Given the description of an element on the screen output the (x, y) to click on. 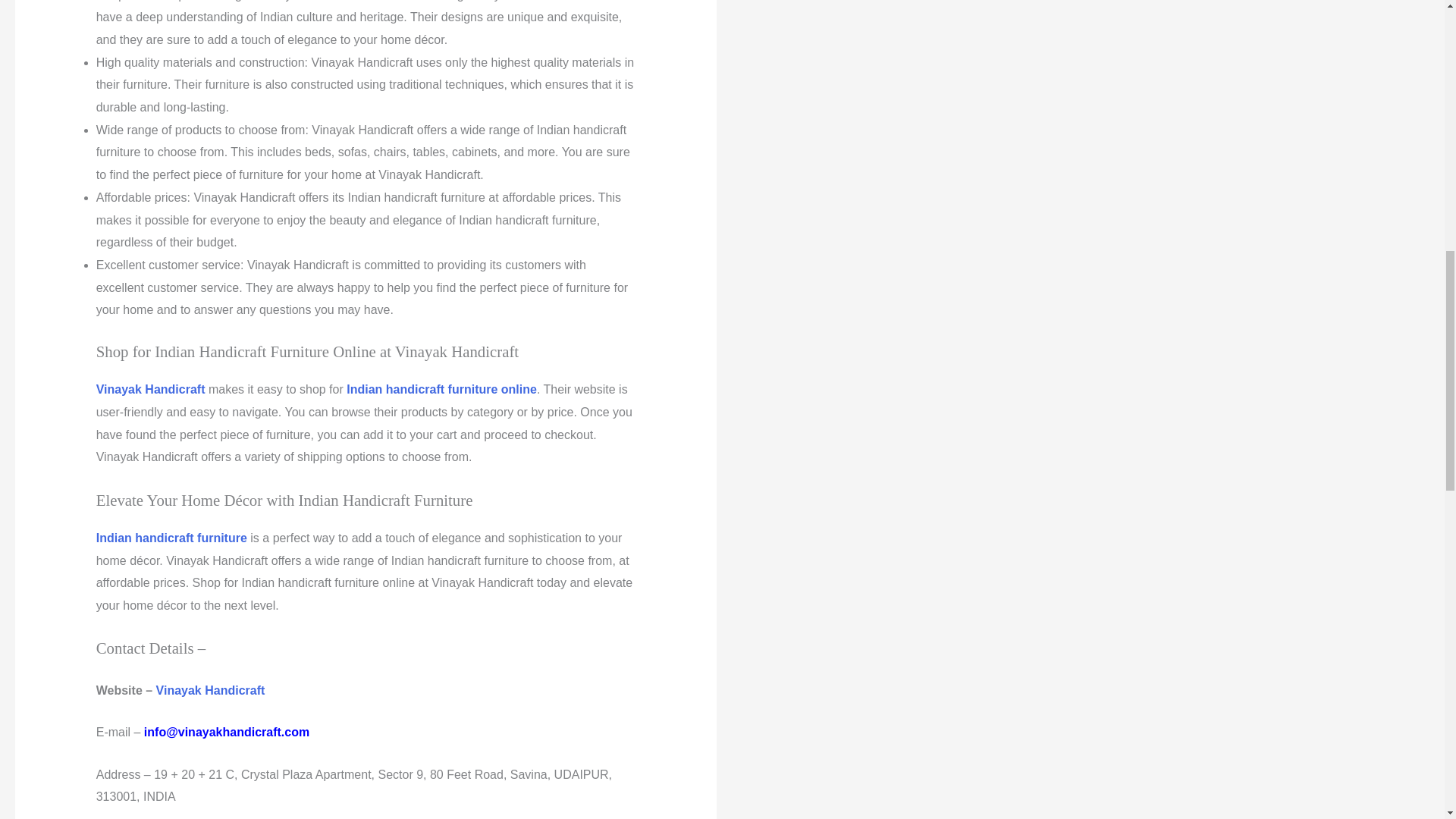
Indian handicraft furniture online (441, 389)
Indian handicraft furniture (171, 537)
Vinayak Handicraft (209, 689)
Vinayak Handicraft (150, 389)
